Given the description of an element on the screen output the (x, y) to click on. 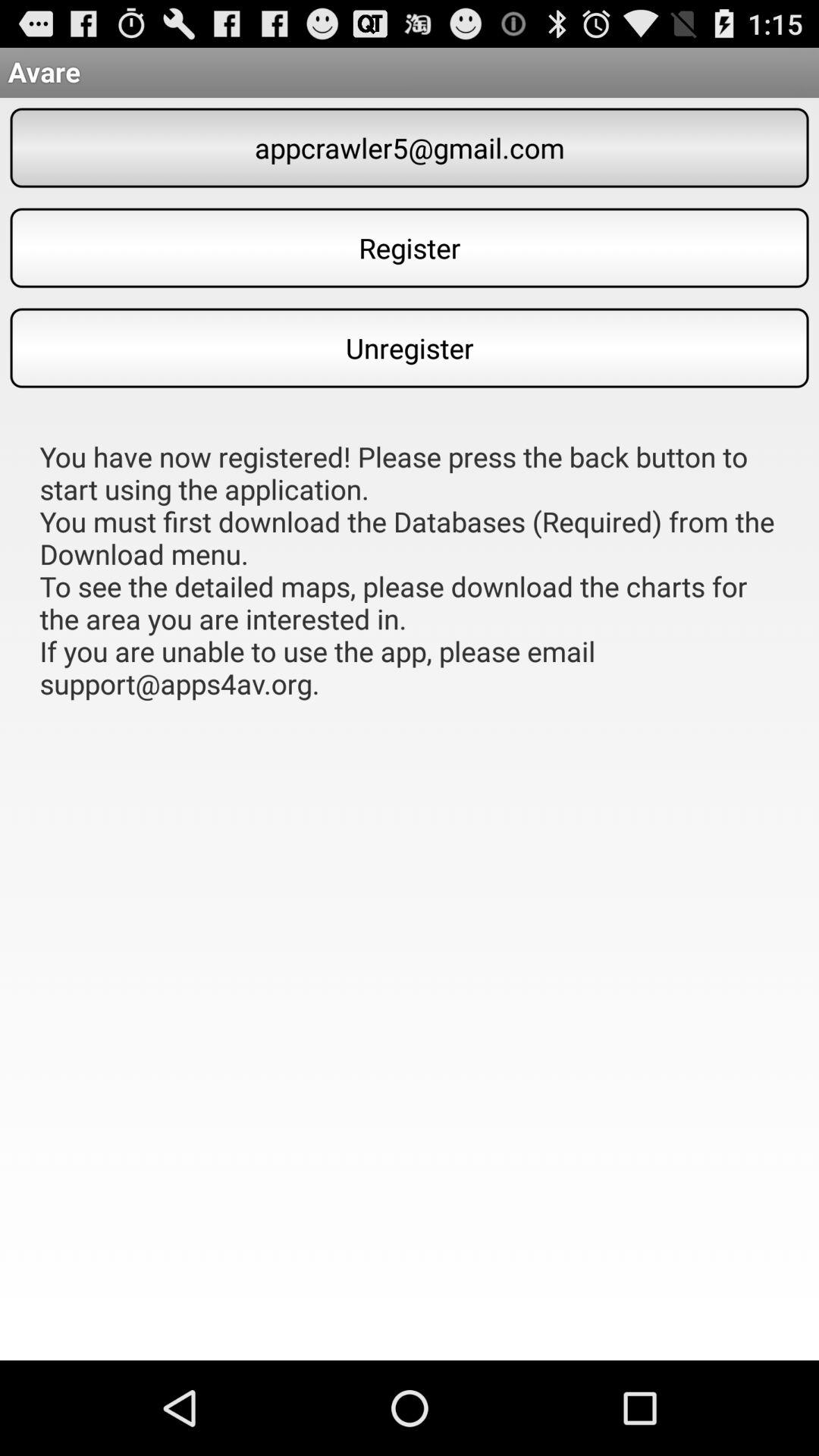
open the icon below the avare (409, 147)
